Given the description of an element on the screen output the (x, y) to click on. 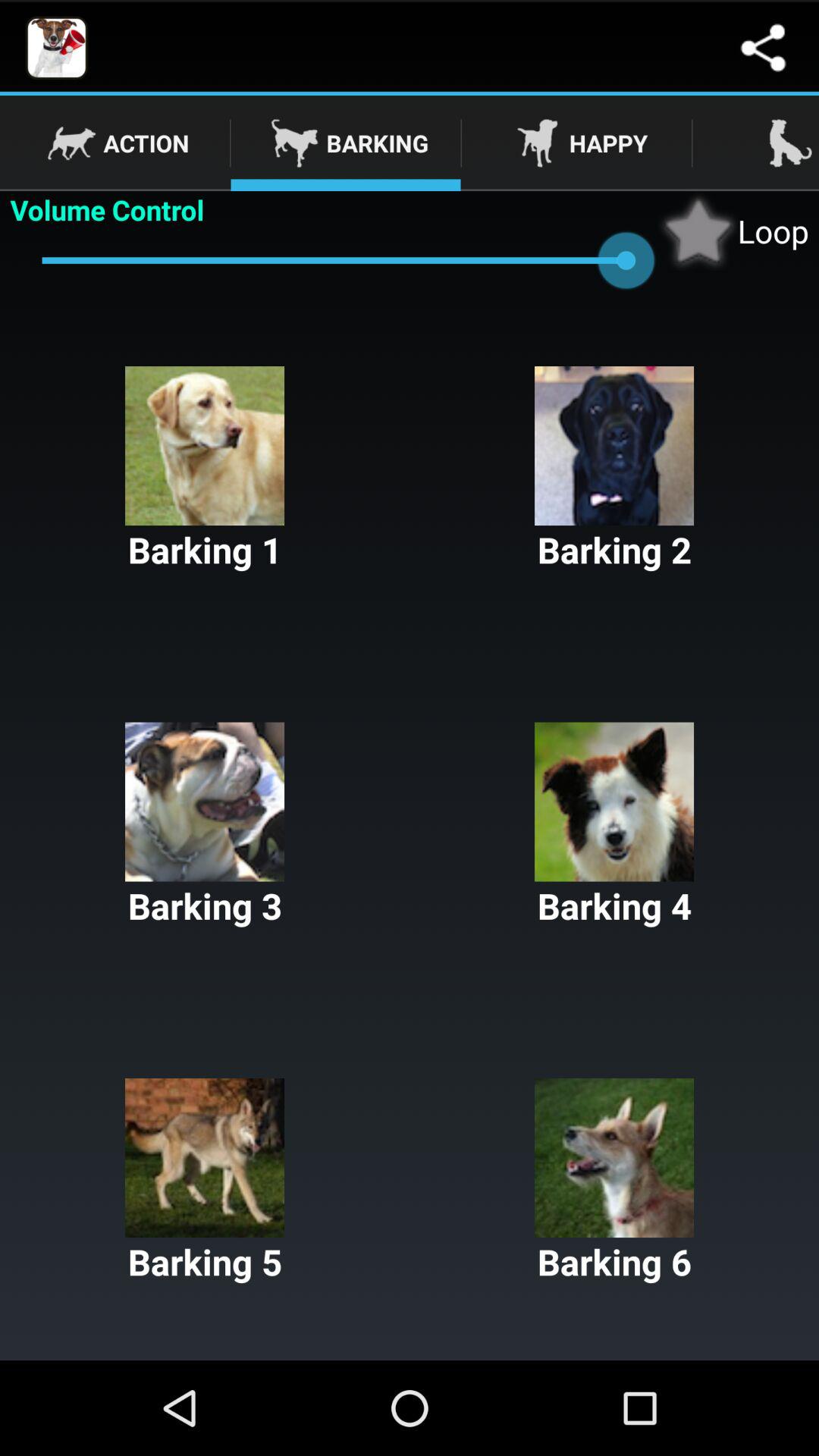
turn on the app next to the volume control (733, 230)
